Given the description of an element on the screen output the (x, y) to click on. 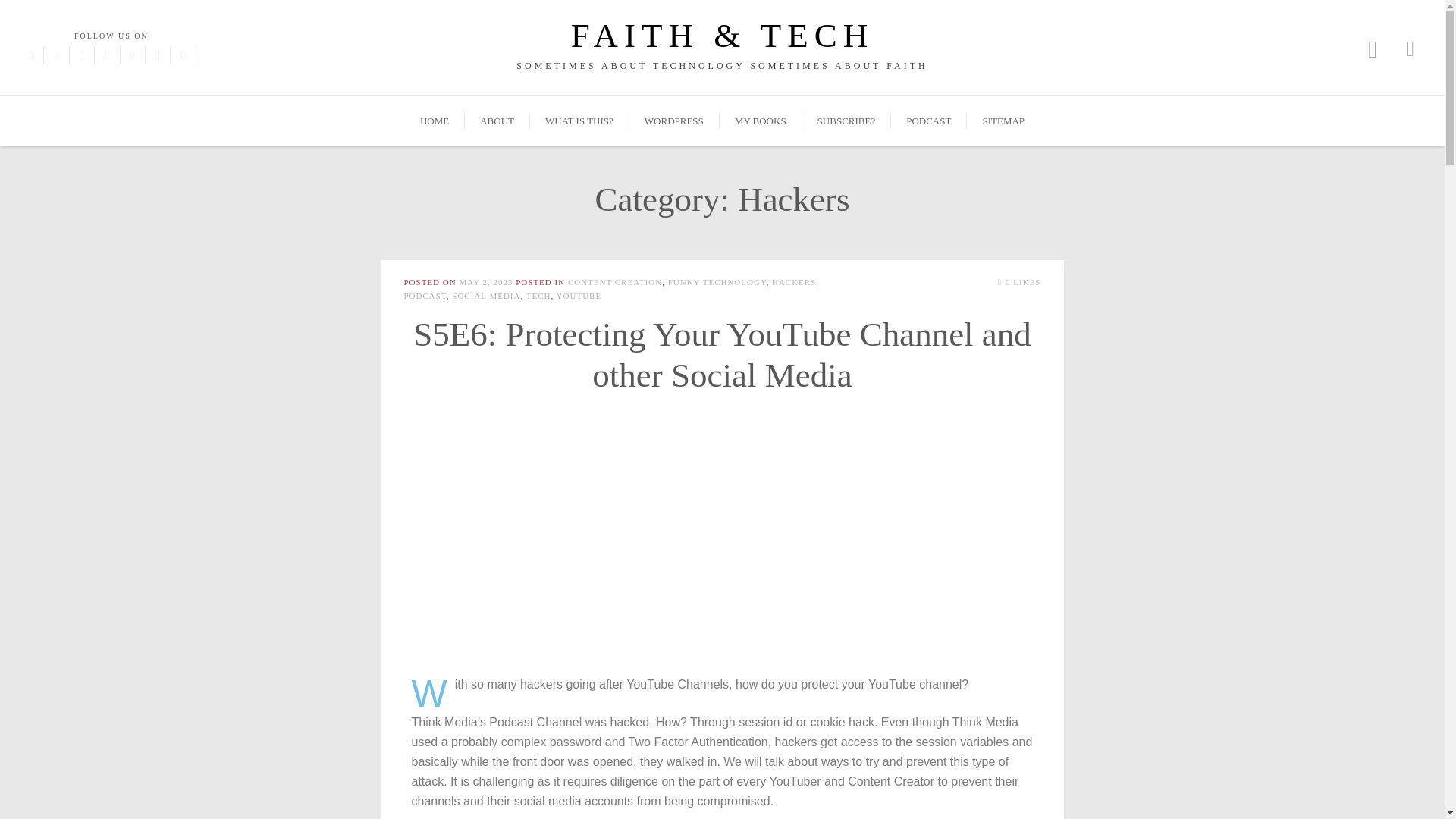
FUNNY TECHNOLOGY (717, 281)
ABOUT (496, 120)
SoundCloud (182, 54)
WHAT IS THIS? (578, 120)
WORDPRESS (673, 120)
Youtube (157, 54)
SOCIAL MEDIA (485, 295)
YOUTUBE (579, 295)
HOME (434, 120)
CONTENT CREATION (614, 281)
